Given the description of an element on the screen output the (x, y) to click on. 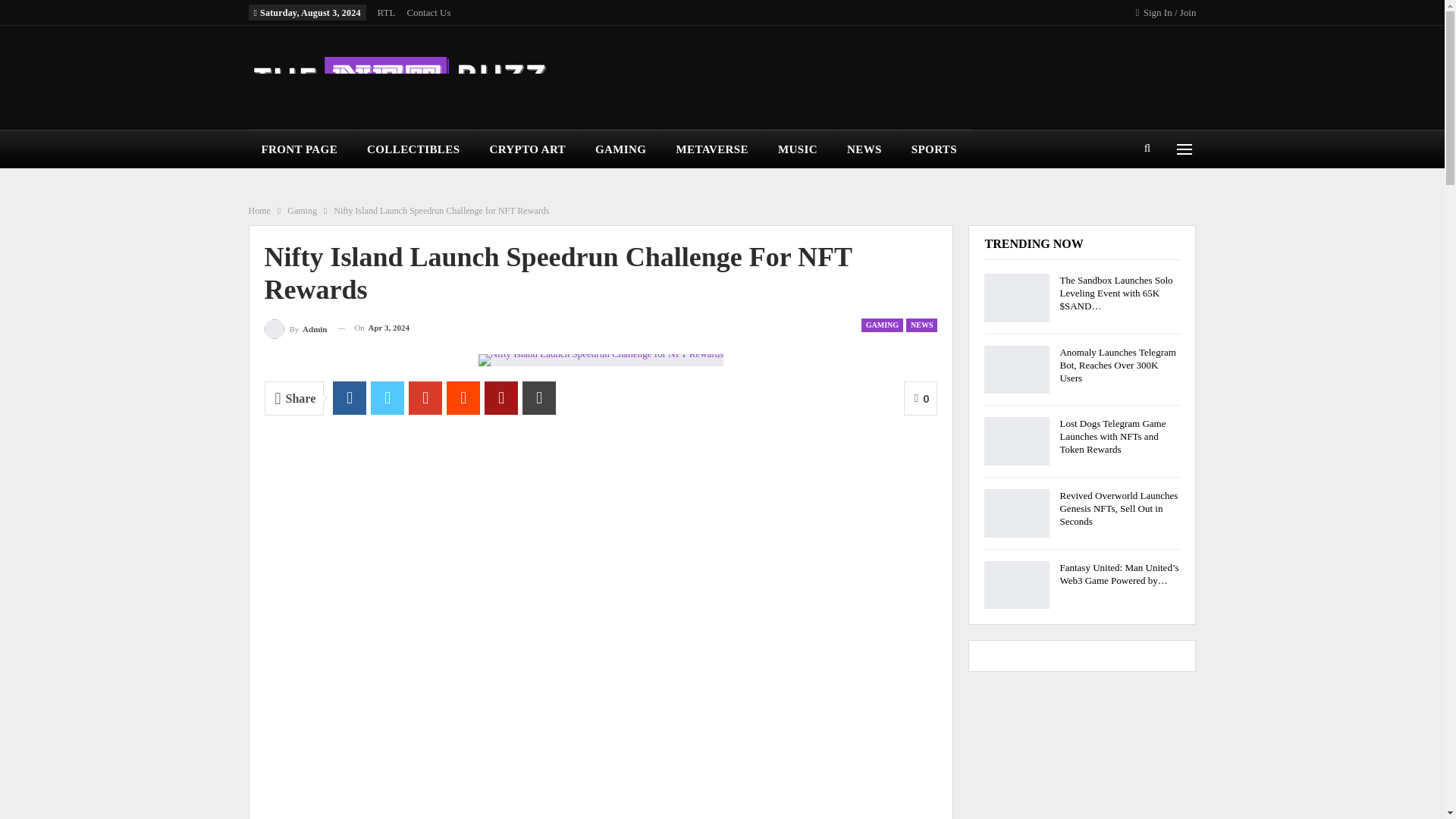
CRYPTO ART (528, 149)
COLLECTIBLES (413, 149)
GAMING (621, 149)
RTL (386, 12)
Contact Us (427, 12)
FRONT PAGE (300, 149)
